Given the description of an element on the screen output the (x, y) to click on. 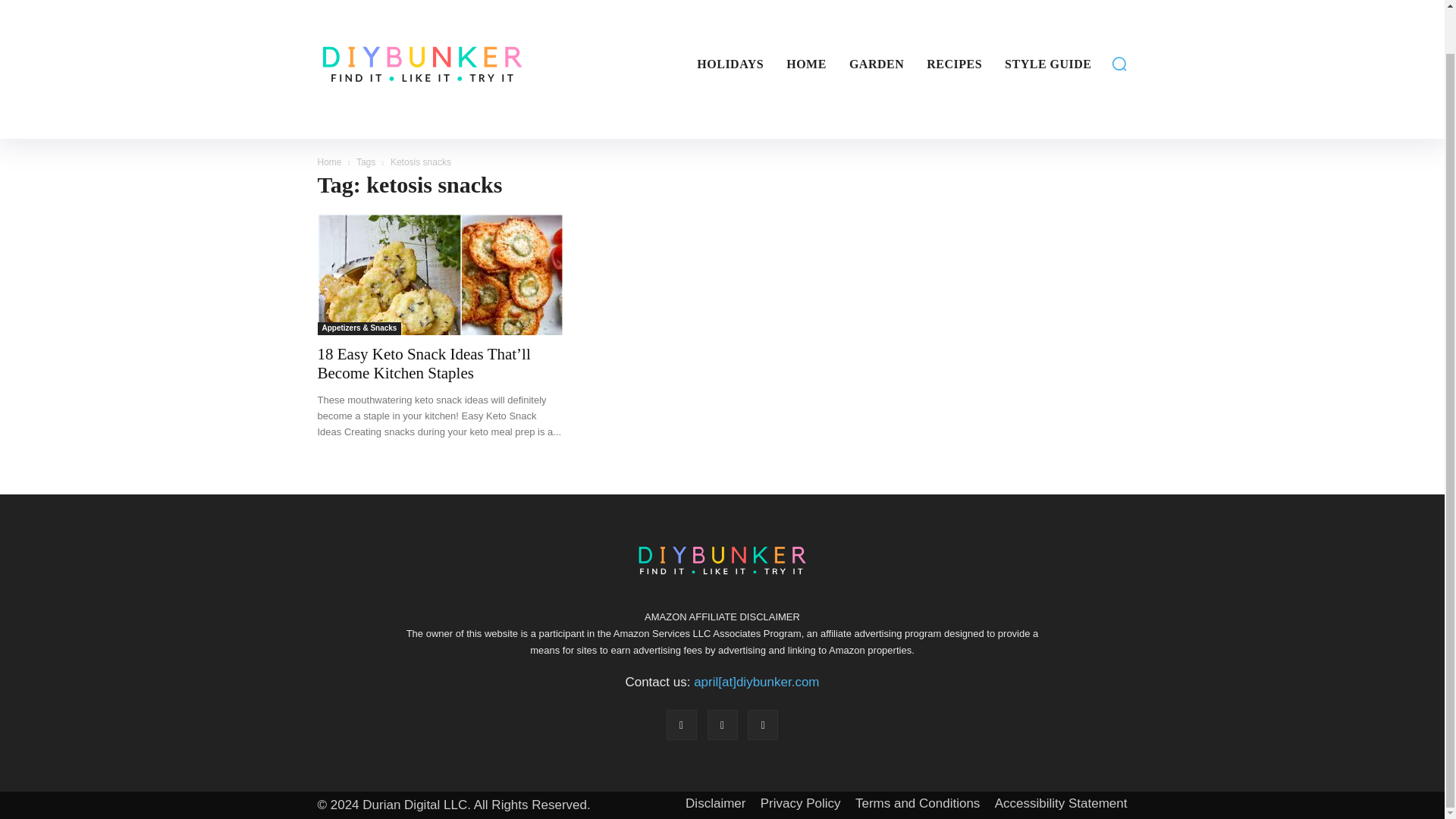
STYLE GUIDE (1048, 64)
Find it. Like it. Try it. (404, 63)
Find it. Like it. Try it. (421, 63)
Home (328, 162)
HOLIDAYS (729, 64)
RECIPES (954, 64)
GARDEN (876, 64)
